Given the description of an element on the screen output the (x, y) to click on. 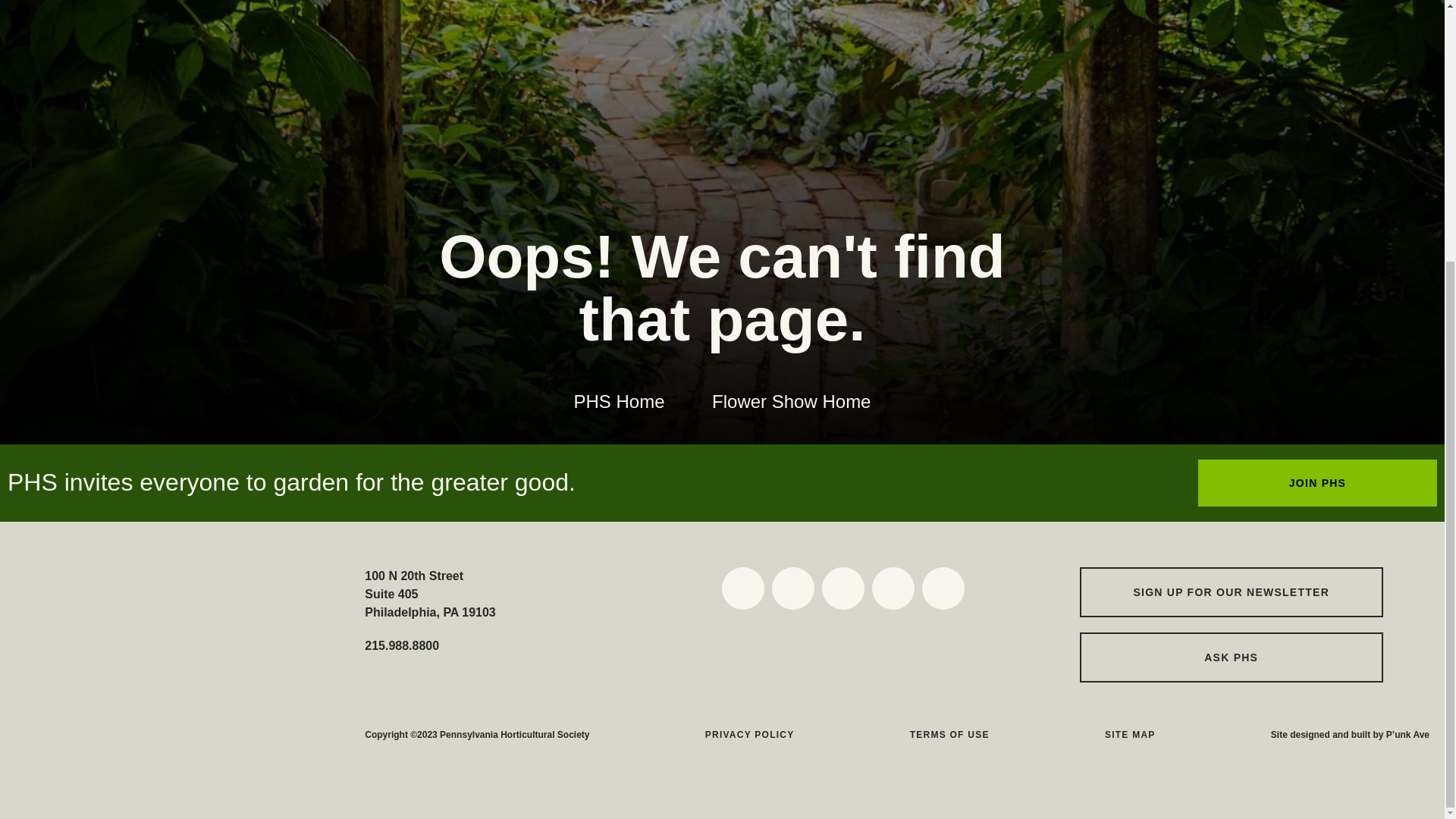
JOIN PHS (1317, 482)
Flower Show Home (790, 401)
PHS Home (619, 401)
